Given the description of an element on the screen output the (x, y) to click on. 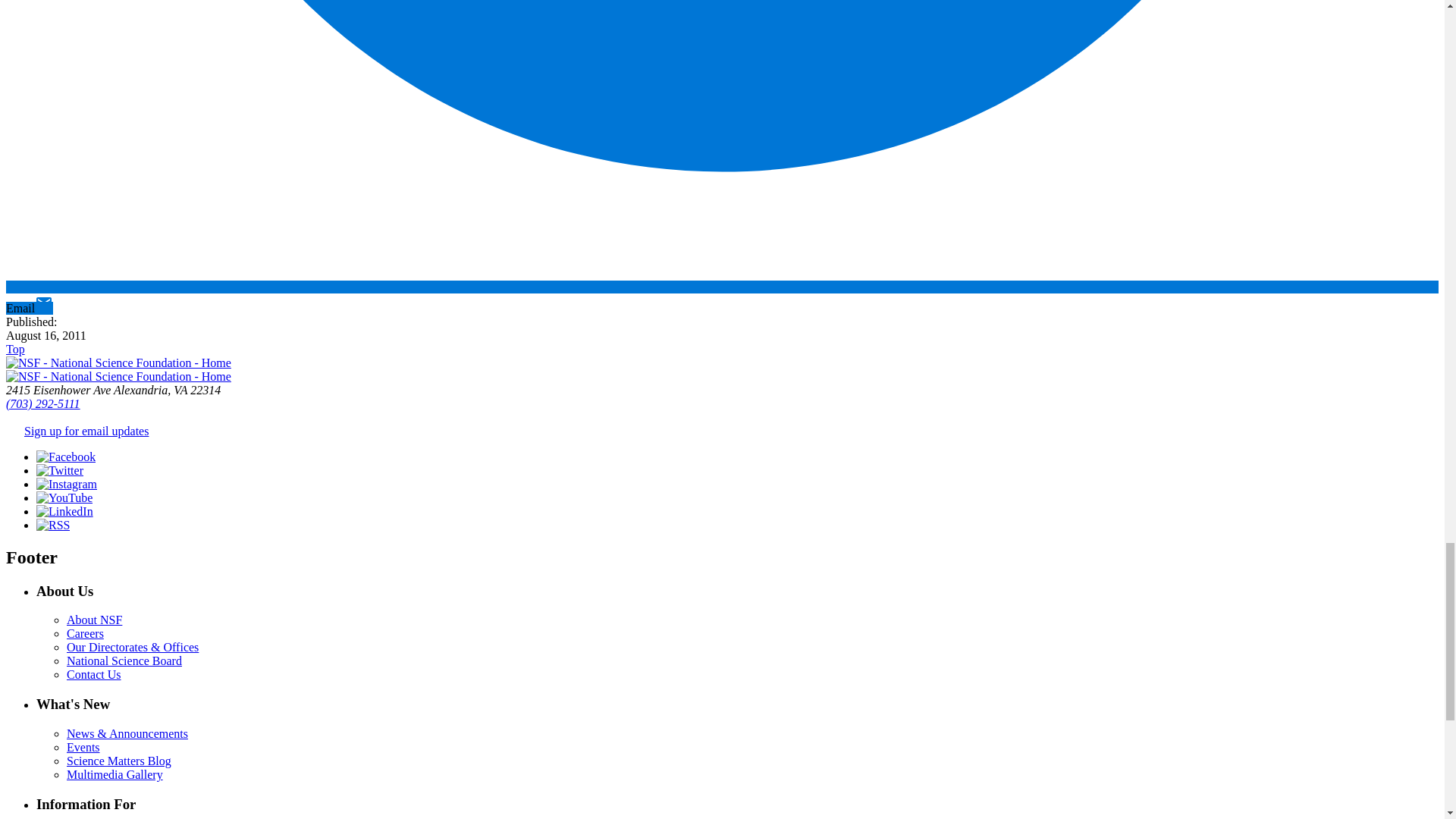
Top (14, 349)
Careers (84, 633)
National Science Board (124, 660)
About NSF (94, 619)
Sign up for email updates (86, 431)
Email (28, 308)
Contact Us (93, 674)
